Given the description of an element on the screen output the (x, y) to click on. 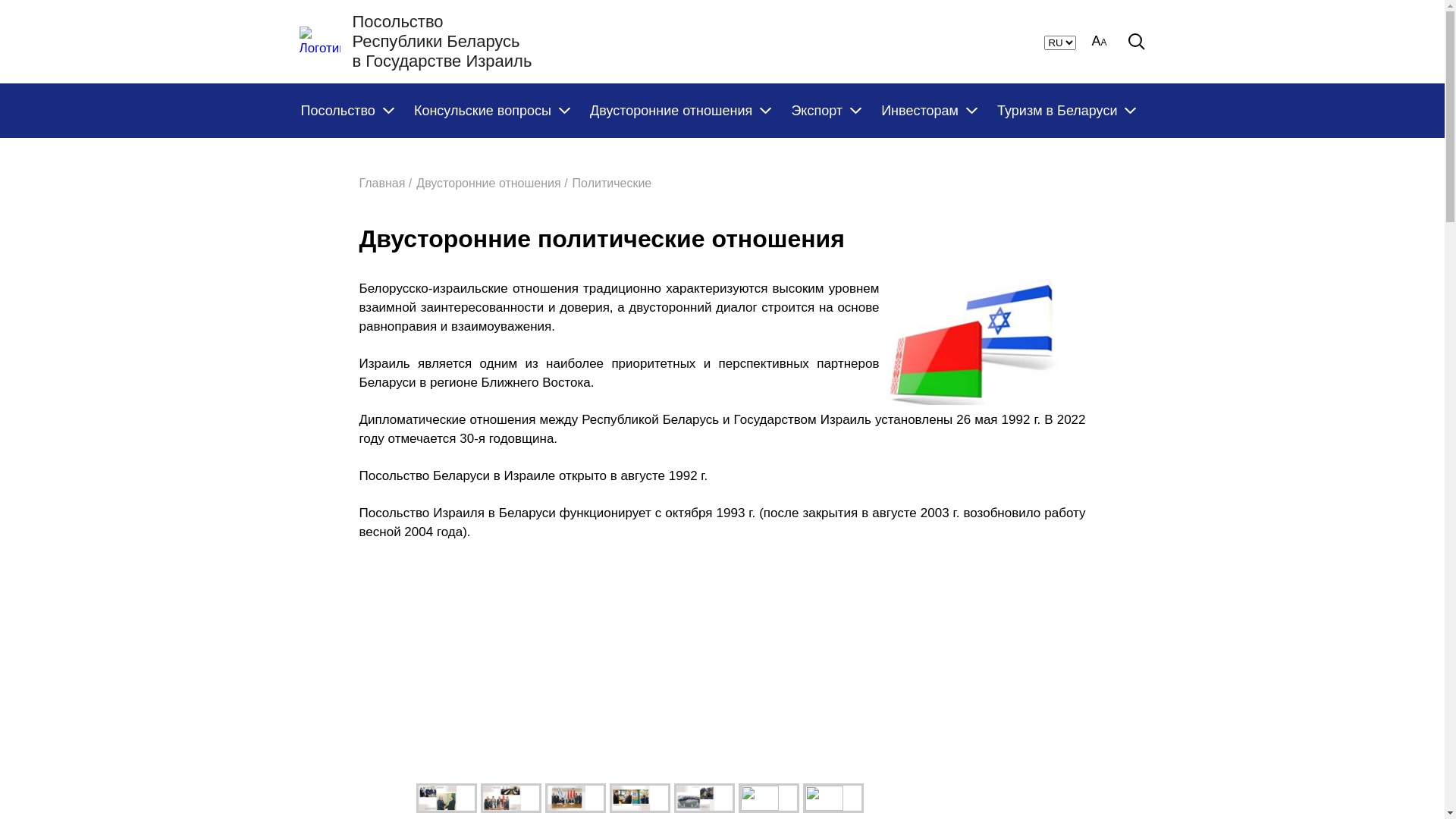
AA Element type: text (1098, 41)
